Given the description of an element on the screen output the (x, y) to click on. 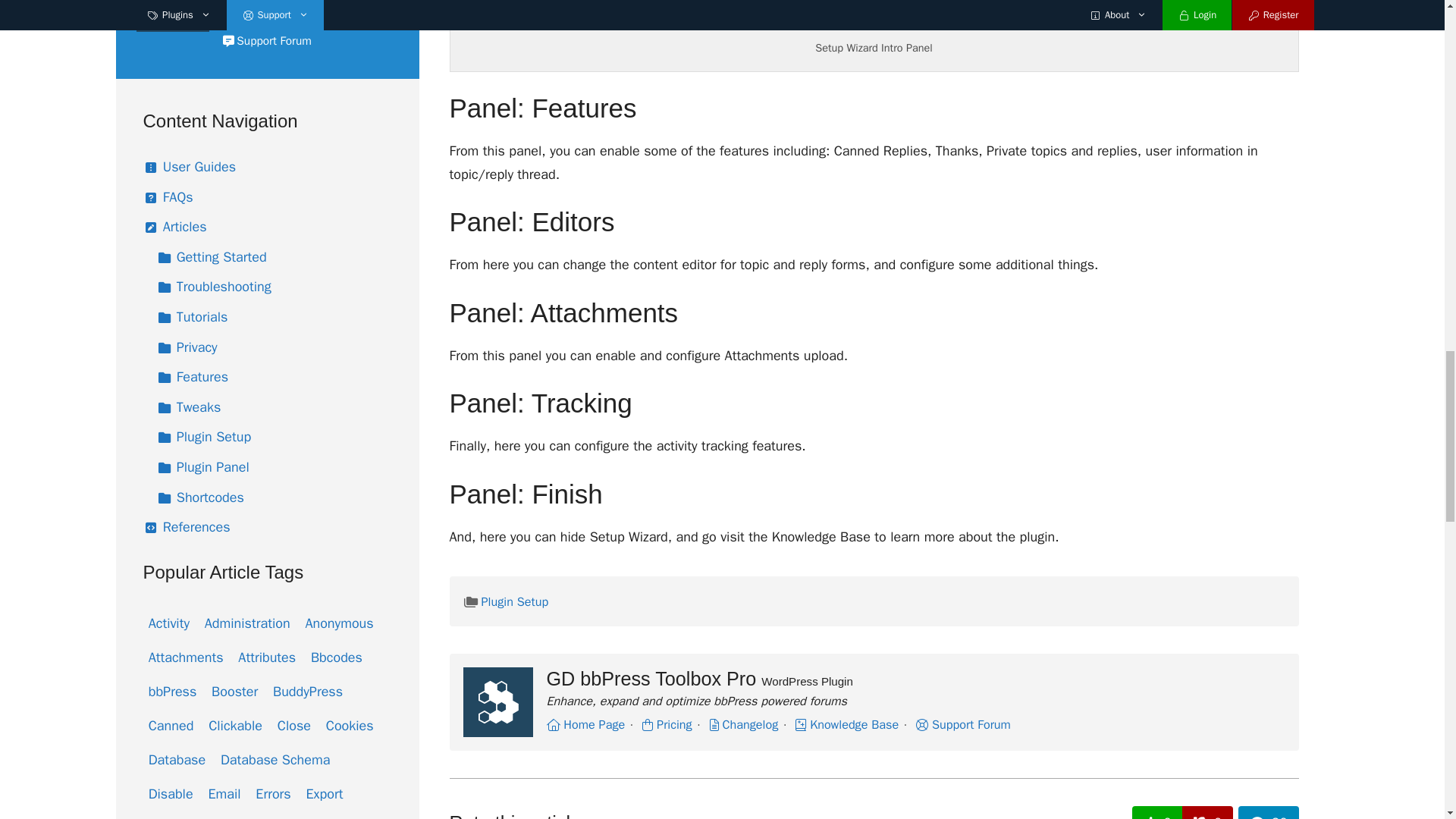
Not helpful count (1207, 812)
Number of views (1268, 812)
Helpful count (1157, 812)
GD bbPress Toolbox Pro (497, 702)
